Given the description of an element on the screen output the (x, y) to click on. 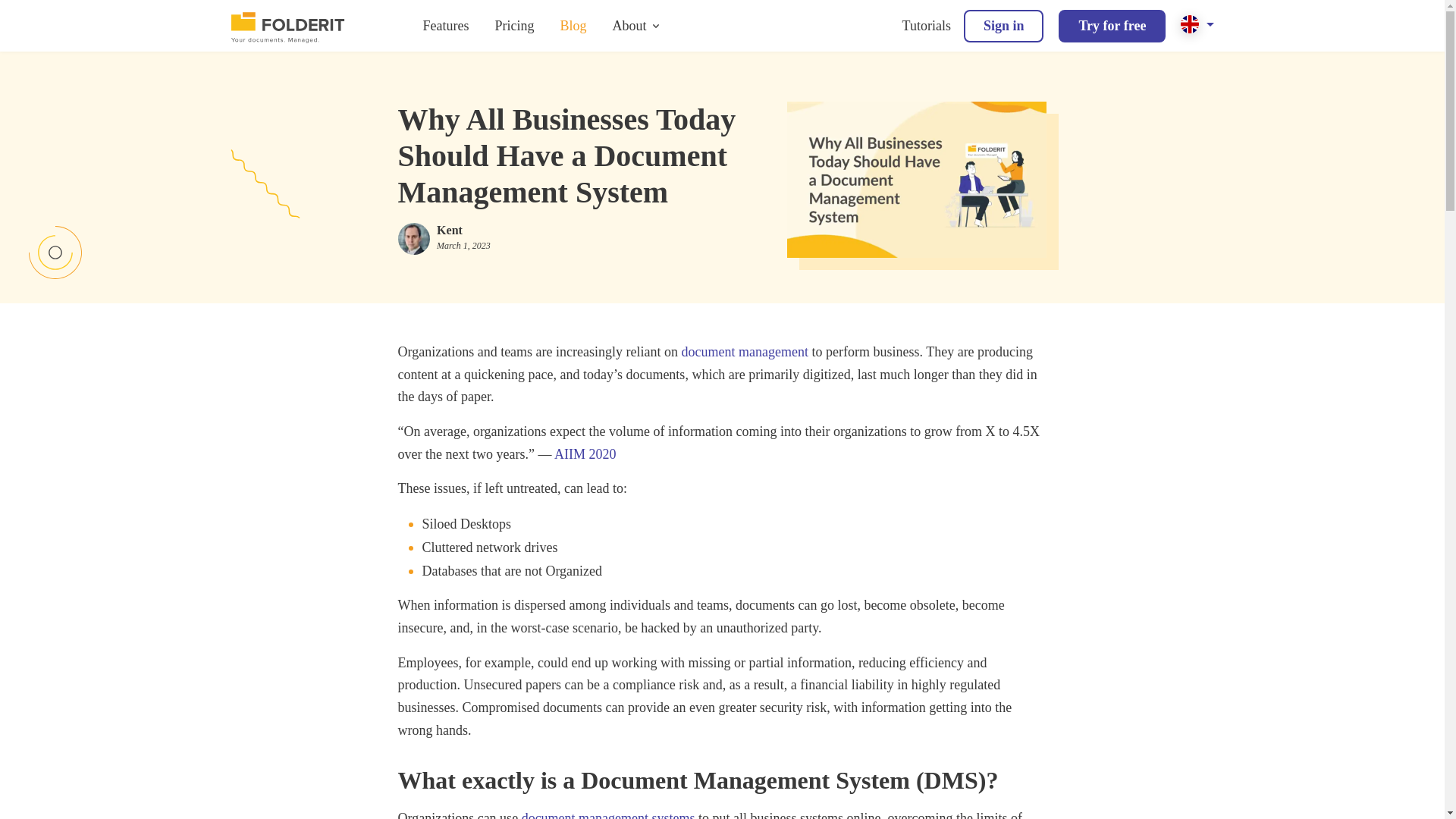
About (629, 25)
Tutorials (926, 25)
Pricing (514, 25)
Blog (572, 25)
Try for free (1112, 26)
Features (445, 25)
Sign in (1003, 26)
